Given the description of an element on the screen output the (x, y) to click on. 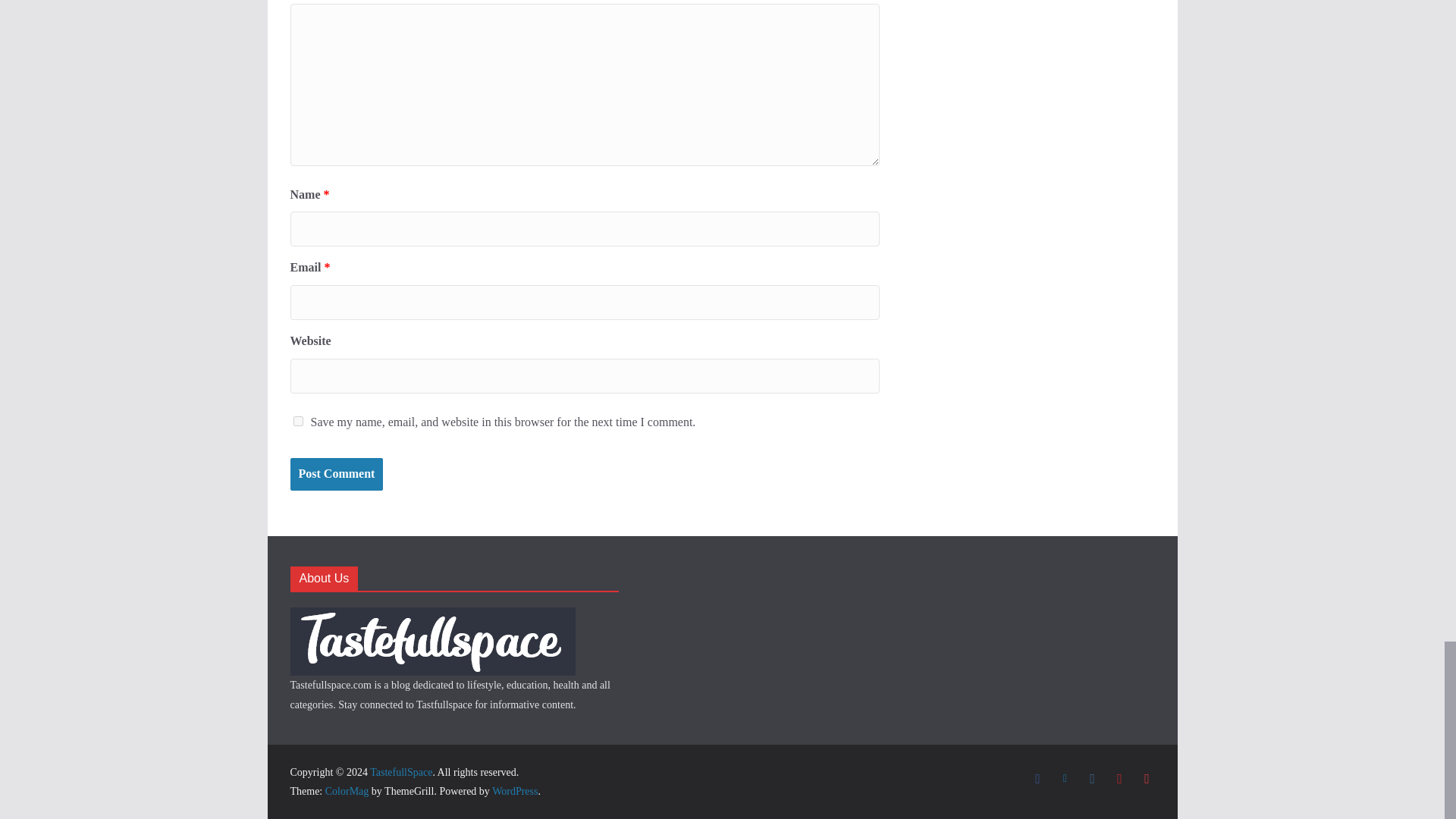
yes (297, 420)
Post Comment (335, 473)
